Given the description of an element on the screen output the (x, y) to click on. 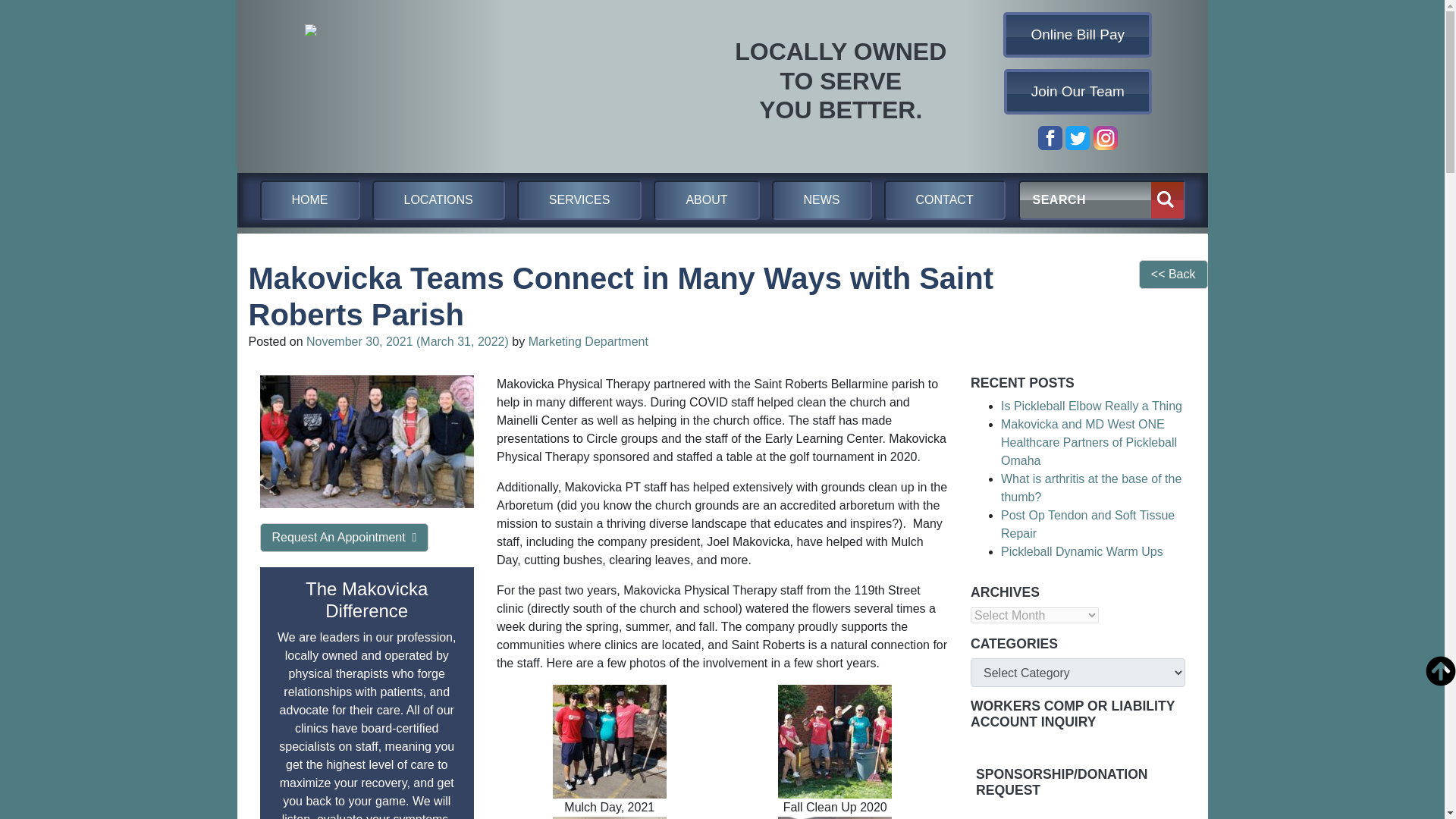
Online Bill Pay (1077, 34)
ABOUT (706, 199)
SERVICES (579, 199)
Join Our Team (1077, 91)
HOME (309, 199)
Make a Payment (1077, 34)
Makovicka Physical Therapy (459, 81)
NEWS (821, 199)
LOCATIONS (437, 199)
CONTACT (944, 199)
